Given the description of an element on the screen output the (x, y) to click on. 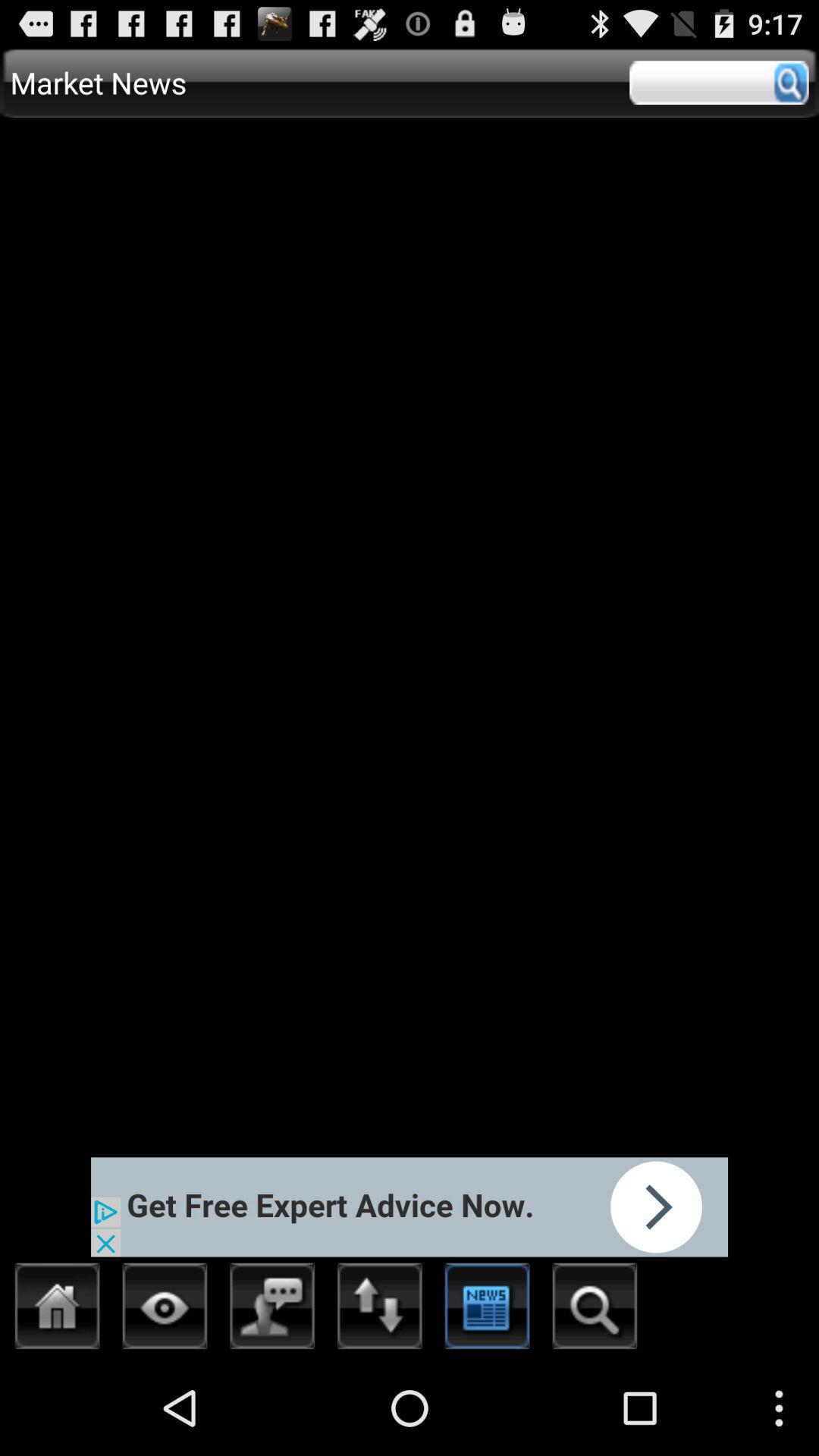
read the news (487, 1310)
